Given the description of an element on the screen output the (x, y) to click on. 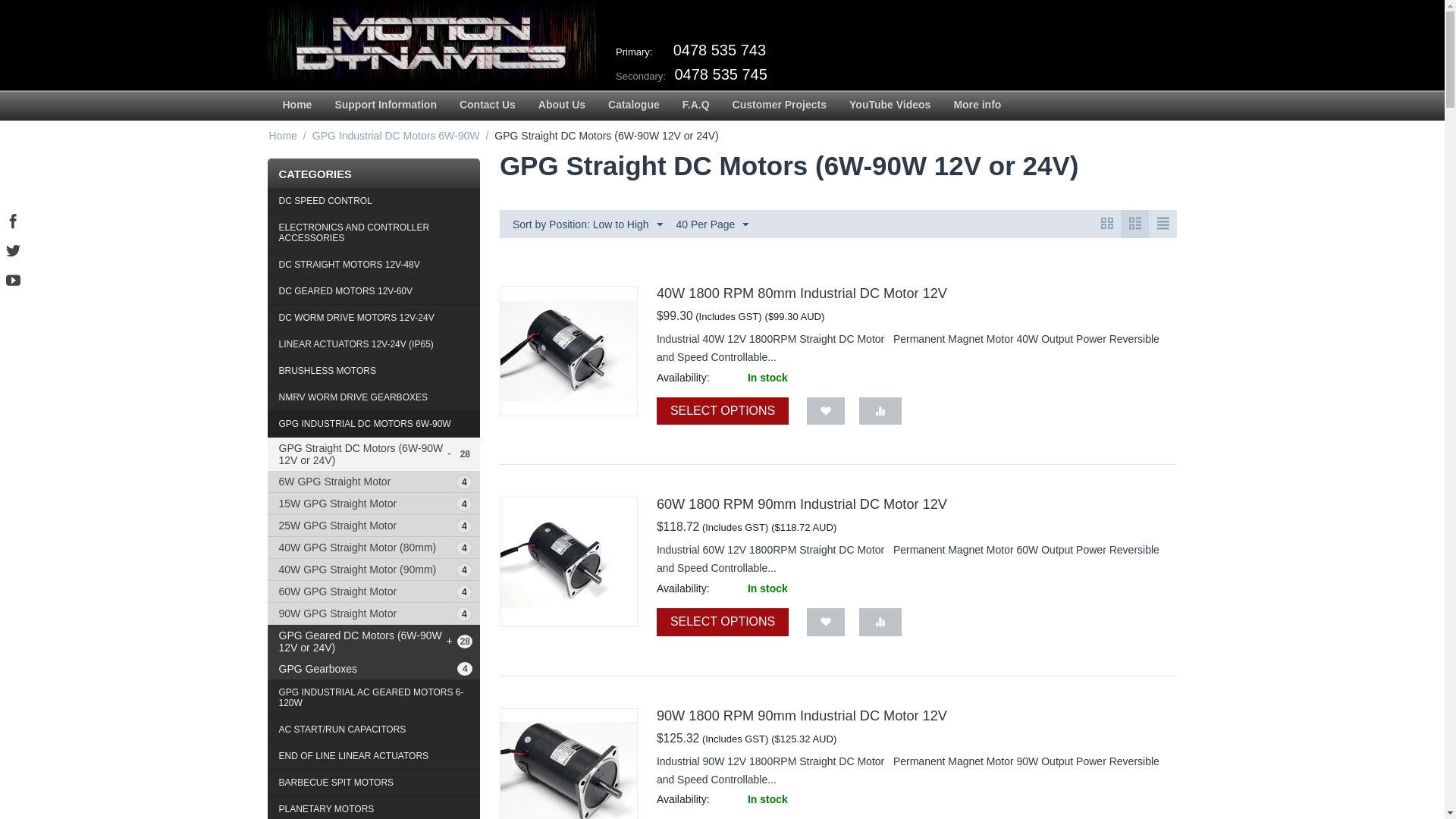
40 Per Page Element type: text (712, 223)
LINEAR ACTUATORS 12V-24V (IP65) Element type: text (373, 344)
40W DC Motor Keyed Shaft Element type: hover (568, 350)
40W GPG Straight Motor (90mm)
4 Element type: text (373, 569)
NMRV WORM DRIVE GEARBOXES Element type: text (373, 397)
90W GPG Straight Motor
4 Element type: text (373, 613)
Customer Projects Element type: text (779, 105)
Support Information Element type: text (385, 105)
40W GPG Straight Motor (80mm)
4 Element type: text (373, 547)
About Us Element type: text (561, 105)
ELECTRONICS AND CONTROLLER ACCESSORIES Element type: text (373, 232)
GPG INDUSTRIAL DC MOTORS 6W-90W Element type: text (373, 424)
40W 1800 RPM 80mm Industrial DC Motor 12V Element type: text (801, 293)
Add to comparison list Element type: hover (880, 411)
GPG Geared DC Motors (6W-90W 12V or 24V)
28 Element type: text (373, 641)
DC GEARED MOTORS 12V-60V Element type: text (373, 291)
DC WORM DRIVE MOTORS 12V-24V Element type: text (373, 317)
6W GPG Straight Motor
4 Element type: text (373, 481)
SELECT OPTIONS Element type: text (722, 411)
DC STRAIGHT MOTORS 12V-48V Element type: text (373, 264)
40W DC Motor Keyed Shaft Element type: hover (568, 561)
0478 535 745 Element type: text (720, 73)
60W GPG Straight Motor
4 Element type: text (373, 591)
0478 535 743 Element type: text (719, 49)
Contact Us Element type: text (487, 105)
BRUSHLESS MOTORS Element type: text (373, 370)
Home Element type: text (297, 105)
Add to comparison list Element type: hover (880, 622)
F.A.Q Element type: text (696, 105)
GPG INDUSTRIAL AC GEARED MOTORS 6-120W Element type: text (373, 697)
GPG Gearboxes
4 Element type: text (373, 668)
15W GPG Straight Motor
4 Element type: text (373, 503)
90W 1800 RPM 90mm Industrial DC Motor 12V Element type: text (801, 715)
Add to wish list Element type: hover (825, 622)
Catalogue Element type: text (633, 105)
END OF LINE LINEAR ACTUATORS Element type: text (373, 756)
Sort by Position: Low to High Element type: text (587, 223)
Home Element type: text (282, 135)
AC START/RUN CAPACITORS Element type: text (373, 729)
Add to wish list Element type: hover (825, 411)
YouTube Videos Element type: text (889, 105)
60W 1800 RPM 90mm Industrial DC Motor 12V Element type: text (801, 503)
GPG Straight DC Motors (6W-90W 12V or 24V)
28 Element type: text (373, 453)
25W GPG Straight Motor
4 Element type: text (373, 525)
BARBECUE SPIT MOTORS Element type: text (373, 782)
GPG Industrial DC Motors 6W-90W Element type: text (395, 135)
More info Element type: text (976, 105)
DC SPEED CONTROL Element type: text (373, 201)
SELECT OPTIONS Element type: text (722, 622)
